Given the description of an element on the screen output the (x, y) to click on. 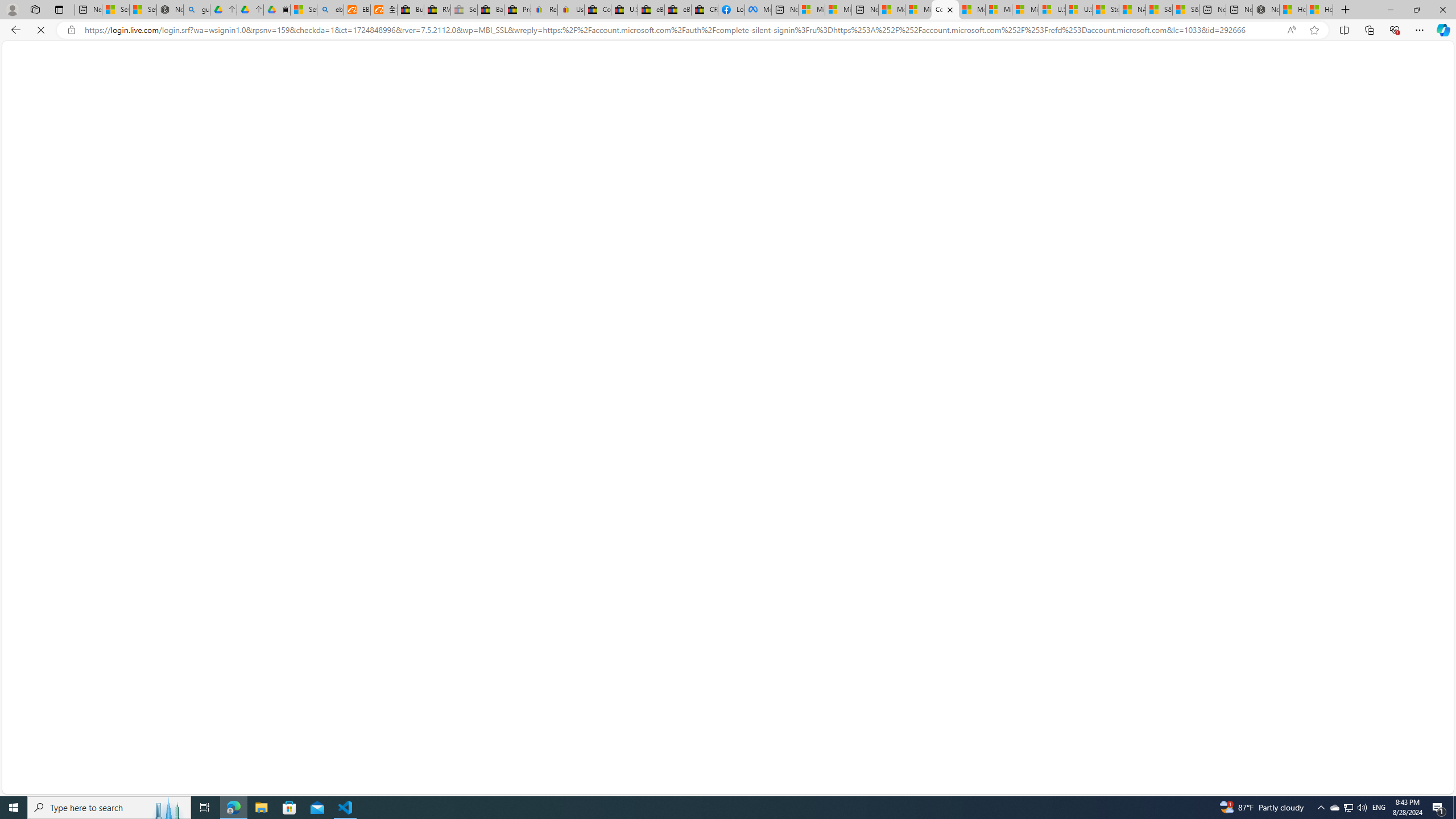
Log into Facebook (731, 9)
Sell worldwide with eBay - Sleeping (463, 9)
Press Room - eBay Inc. (517, 9)
